Given the description of an element on the screen output the (x, y) to click on. 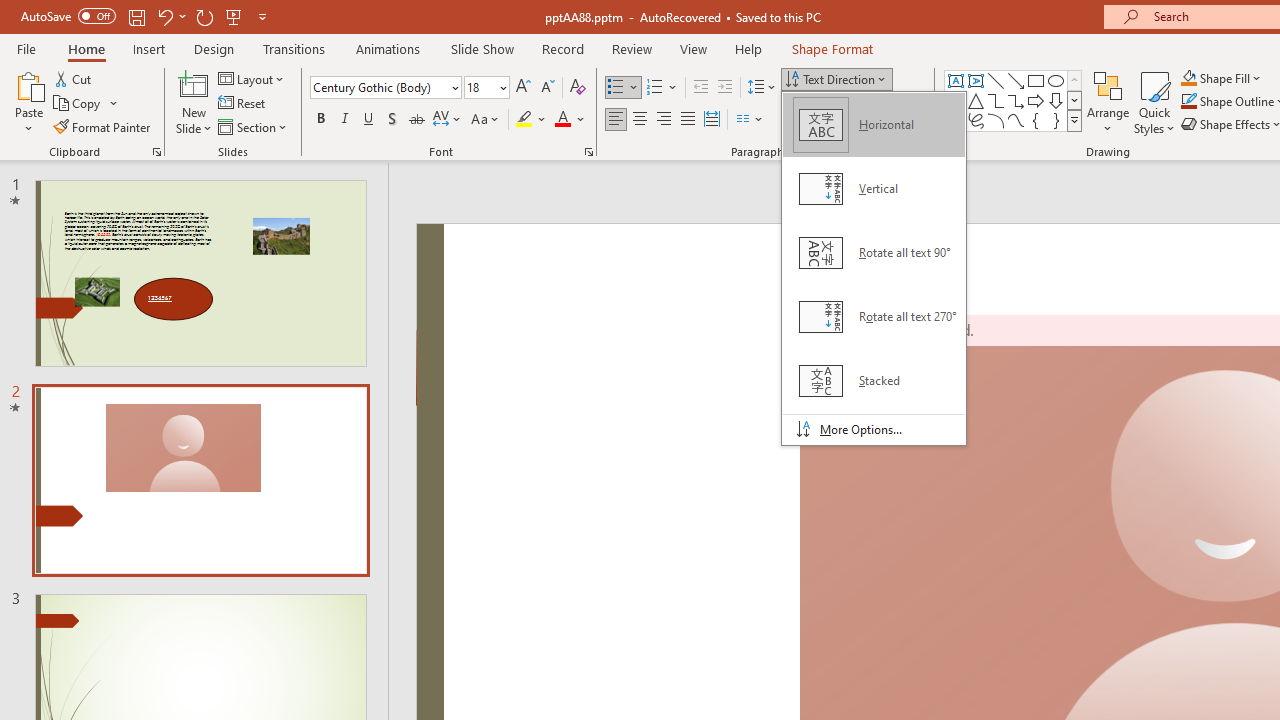
Shape Outline Teal, Accent 1 (1188, 101)
